Given the description of an element on the screen output the (x, y) to click on. 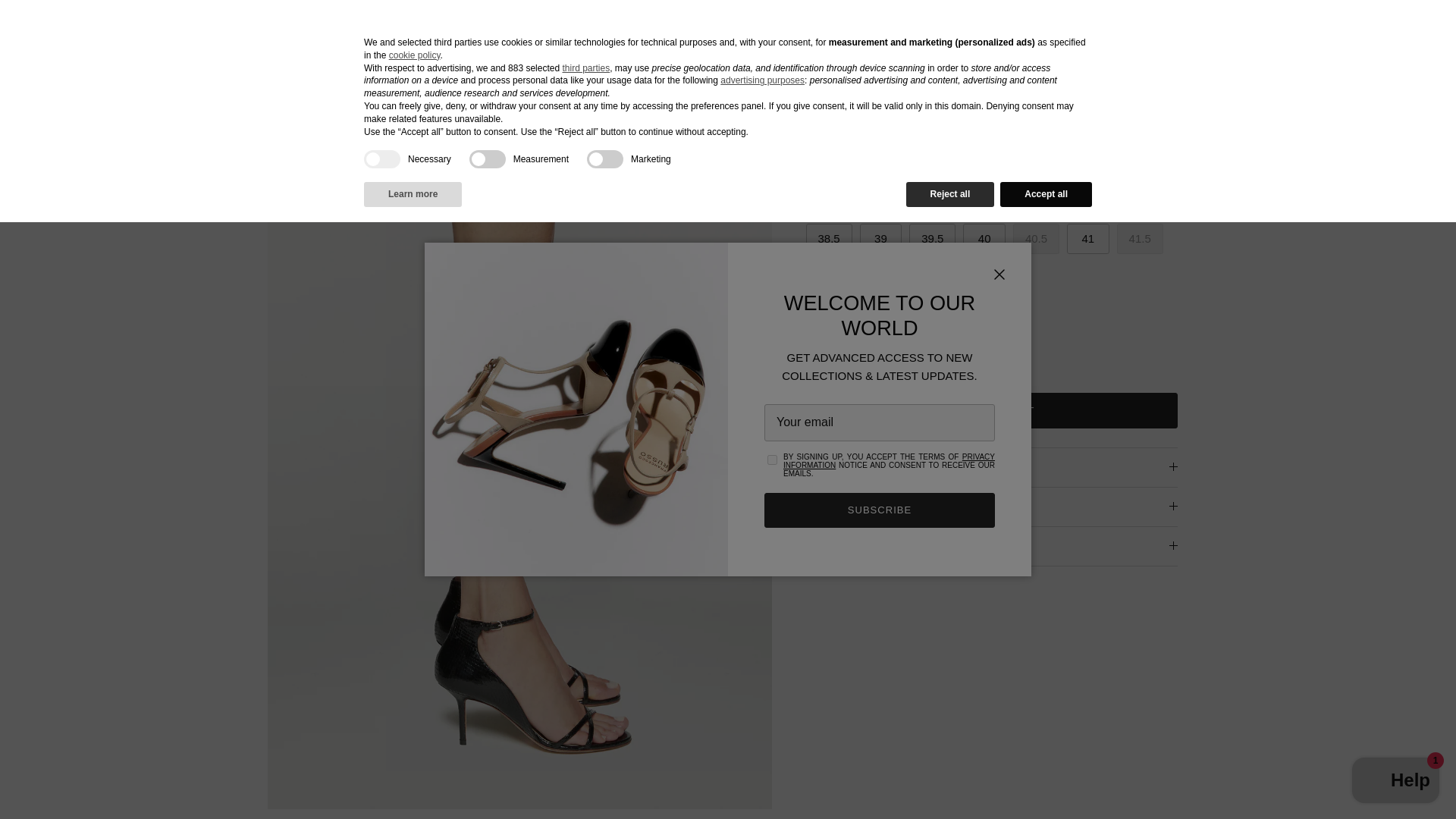
Shopify online store chat (1396, 781)
Sold out (982, 200)
Sold out (826, 200)
Account (1319, 31)
Sold out (1036, 238)
SHOP (136, 31)
false (486, 158)
Sold out (1139, 238)
Francesco Russo (721, 31)
HOME (66, 31)
false (604, 158)
Search (1356, 31)
Privacy Policy (888, 460)
Home (172, 91)
SALE (204, 31)
